Given the description of an element on the screen output the (x, y) to click on. 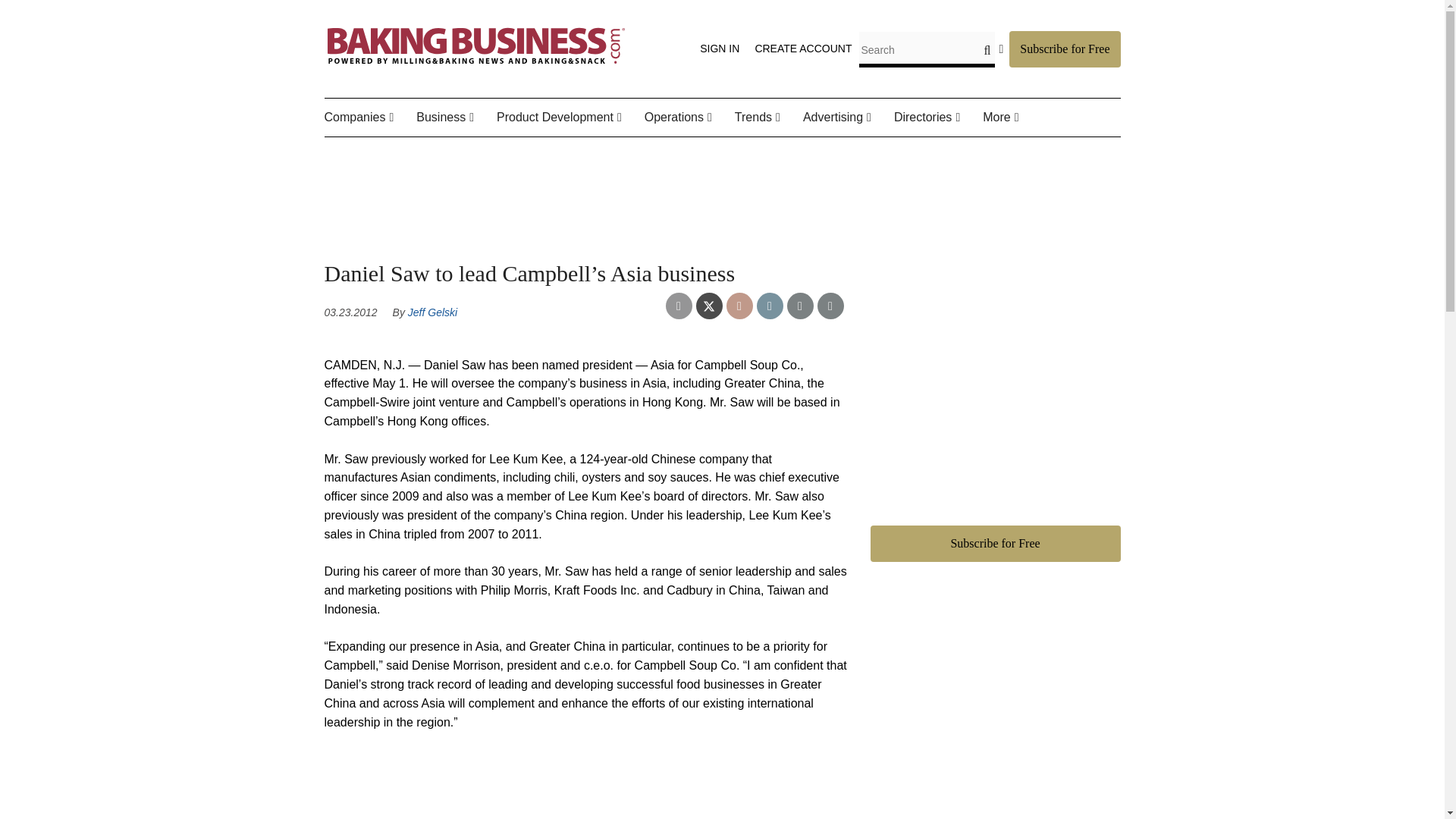
Baking Business (475, 64)
